Given the description of an element on the screen output the (x, y) to click on. 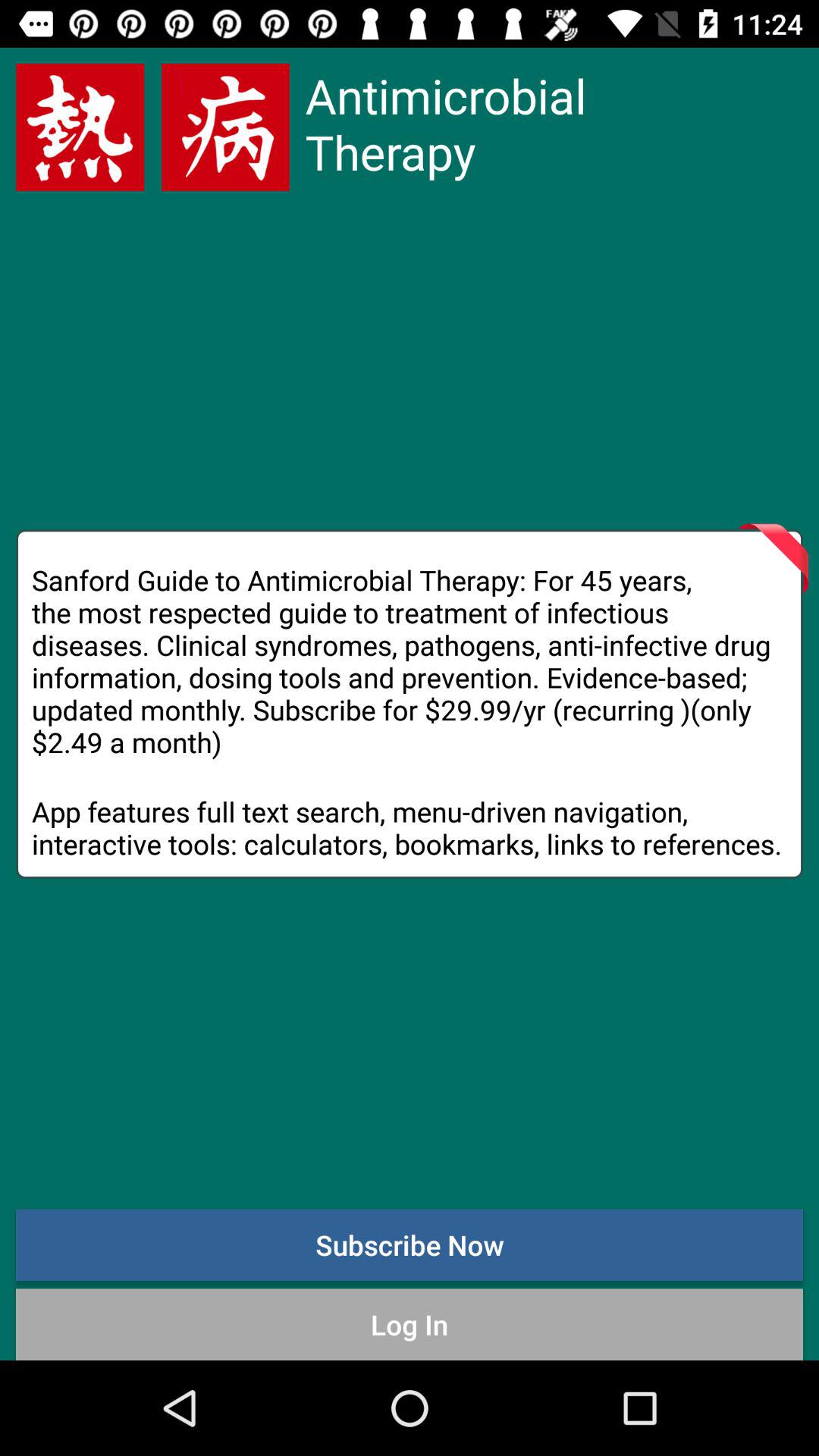
click the subscribe now icon (409, 1244)
